Given the description of an element on the screen output the (x, y) to click on. 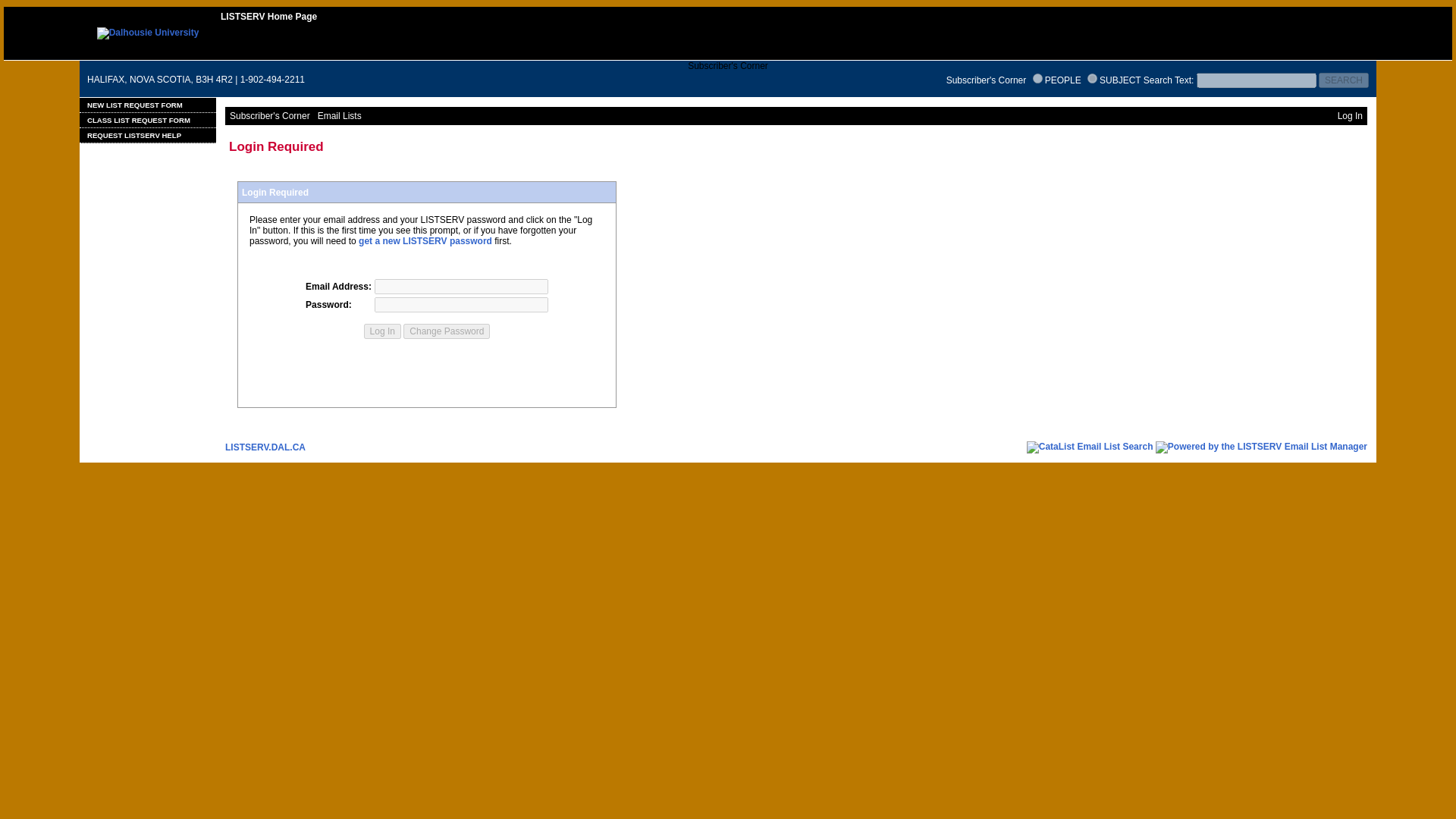
SEARCH (1343, 79)
CLASS LIST REQUEST FORM (147, 120)
on (1092, 78)
SEARCH (1343, 79)
CataList Email List Search (1089, 447)
Change Password (446, 331)
REQUEST LISTSERV HELP (147, 135)
Log In (382, 331)
on (1037, 78)
Powered by the LISTSERV Email List Manager (1261, 447)
